Given the description of an element on the screen output the (x, y) to click on. 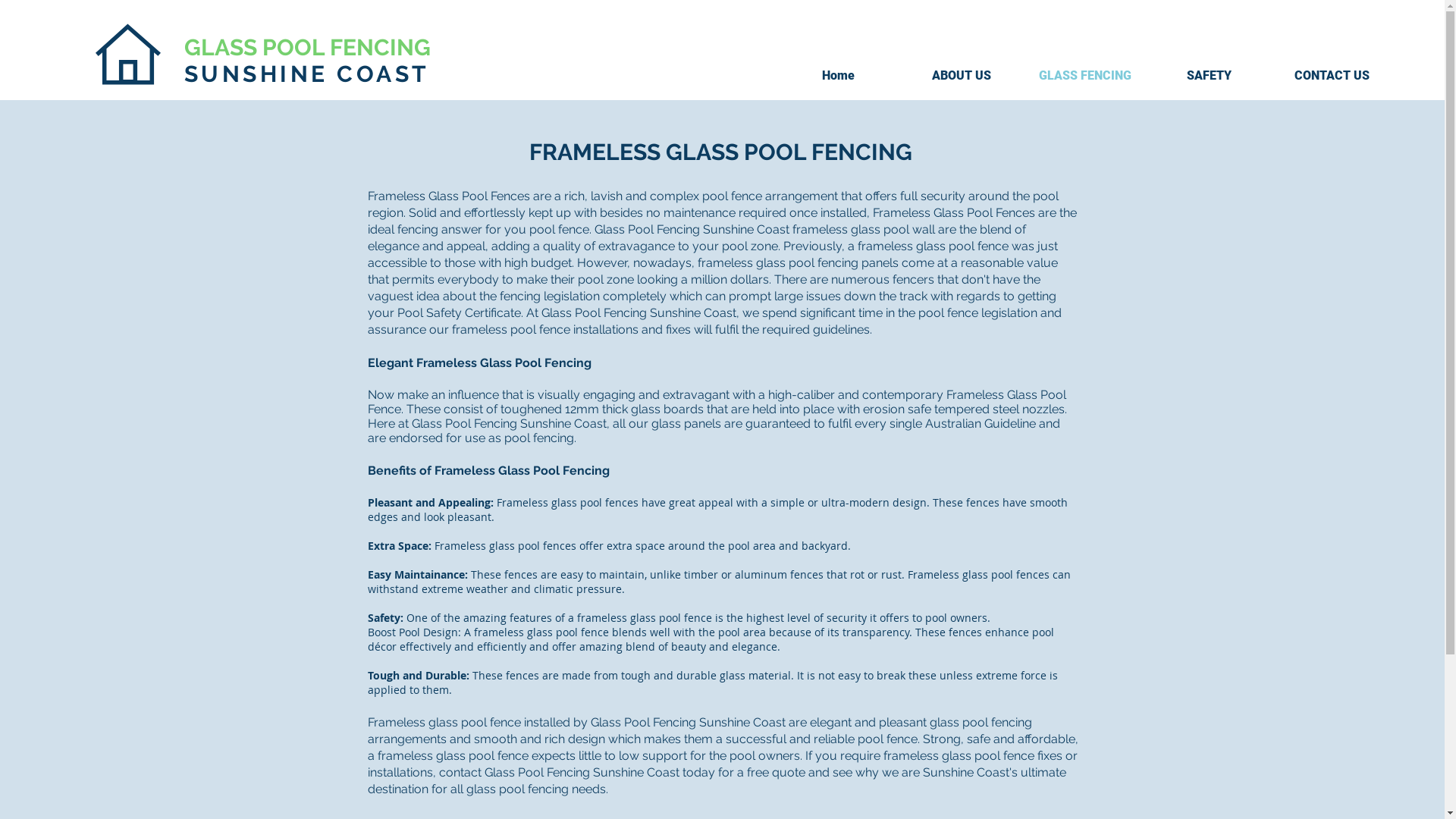
GLASS POOL FENCING Element type: text (306, 47)
GLASS FENCING Element type: text (1085, 75)
ABOUT US Element type: text (960, 75)
CONTACT US Element type: text (1331, 75)
SAFETY Element type: text (1208, 75)
Home Element type: text (838, 75)
SUNSHINE COAST Element type: text (306, 73)
